Given the description of an element on the screen output the (x, y) to click on. 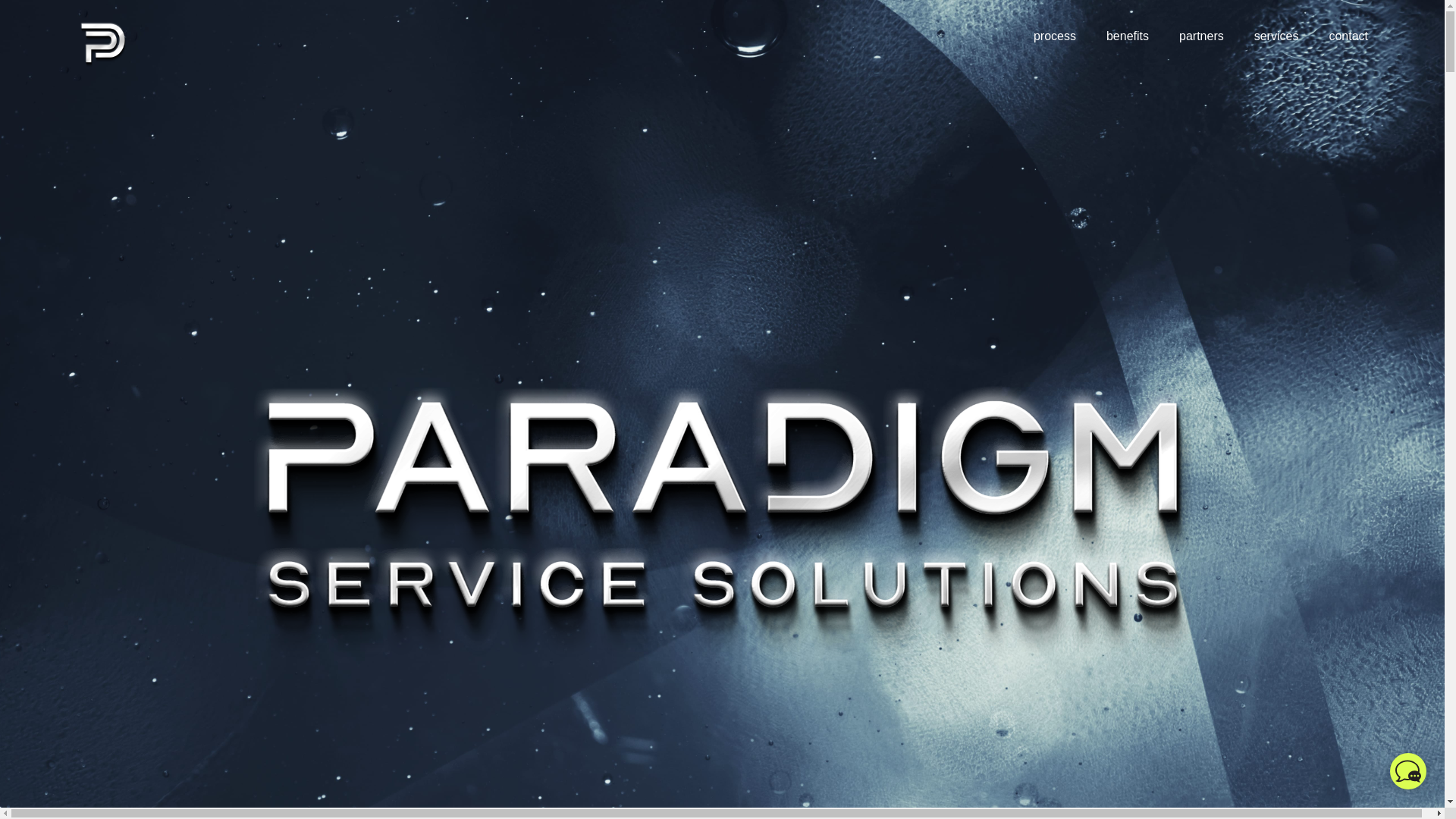
services (1276, 36)
contact (1348, 36)
benefits (1126, 36)
process (1053, 36)
partners (1201, 36)
